Given the description of an element on the screen output the (x, y) to click on. 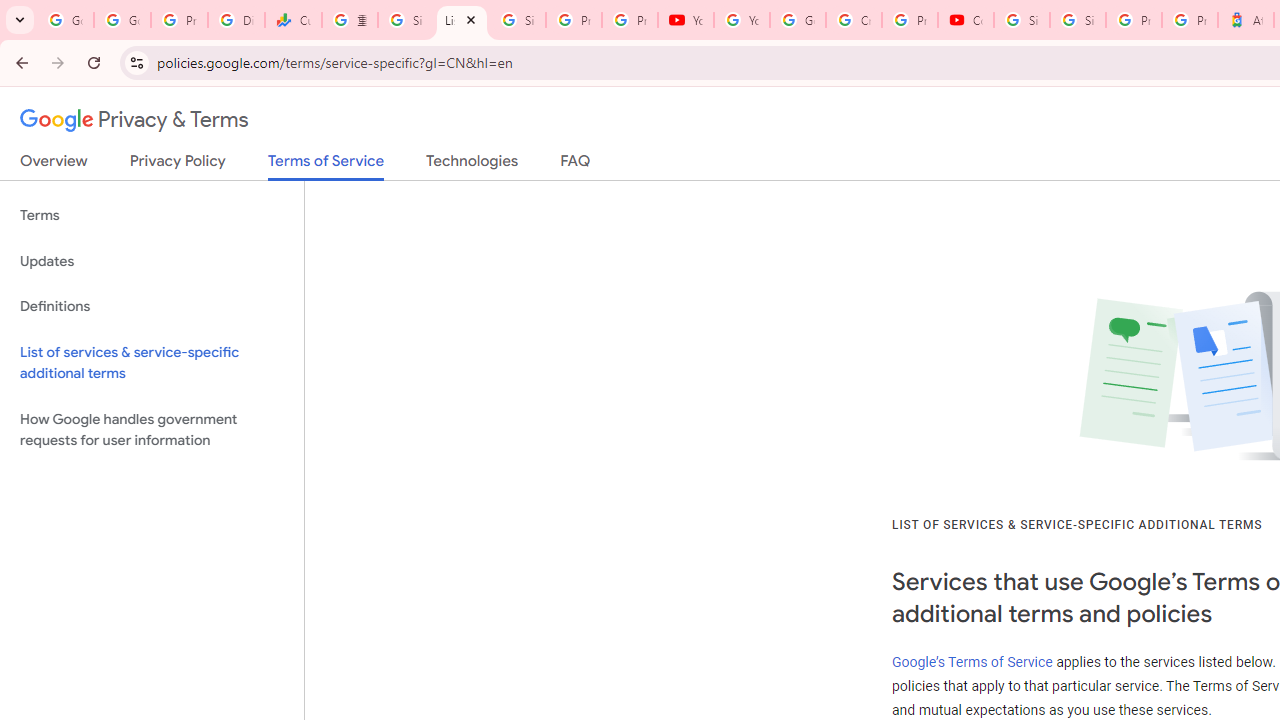
YouTube (685, 20)
How Google handles government requests for user information (152, 429)
Currencies - Google Finance (293, 20)
